Given the description of an element on the screen output the (x, y) to click on. 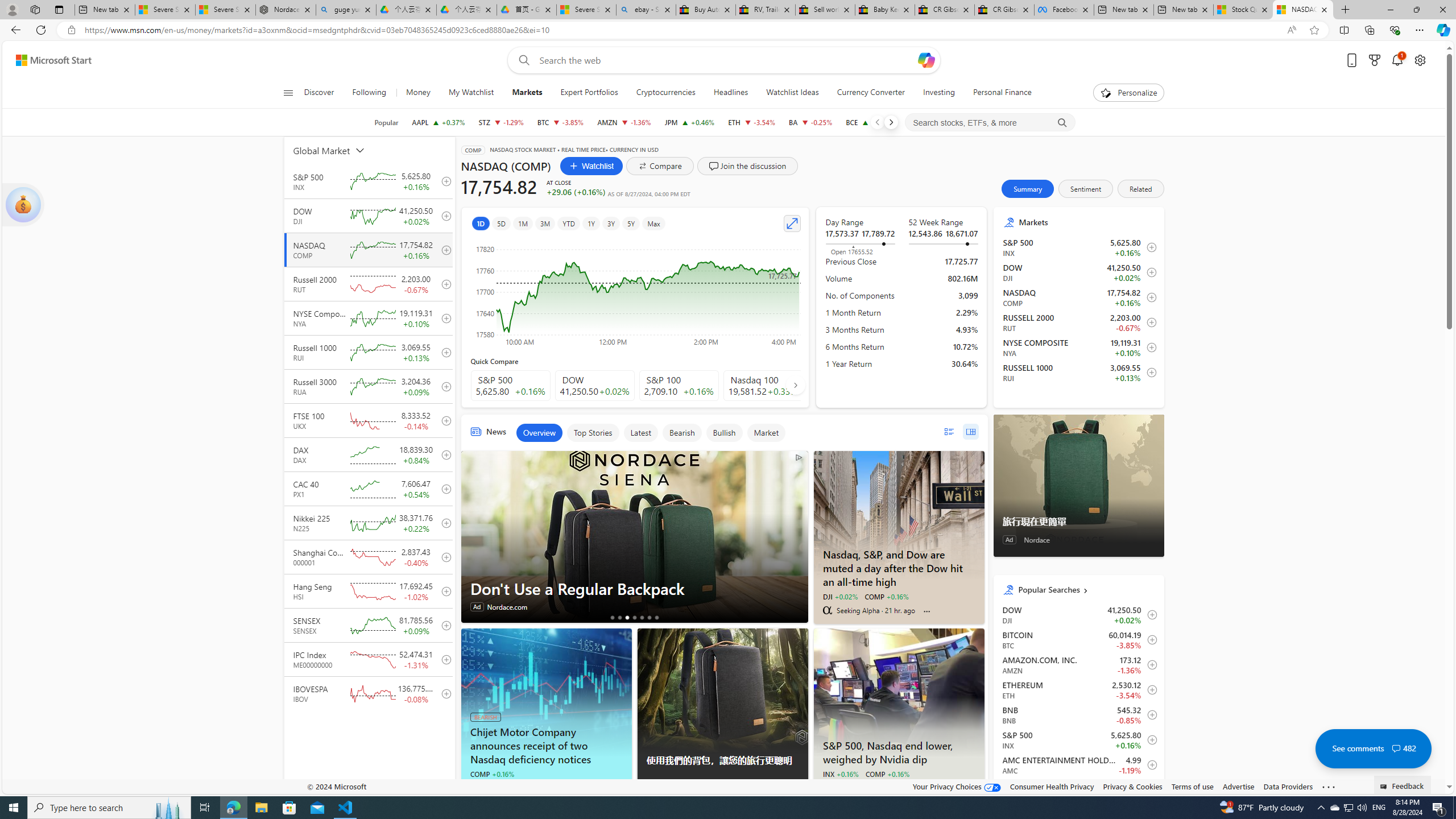
Notifications (1397, 60)
Following (368, 92)
Personalize (1128, 92)
Money (417, 92)
Money (418, 92)
Popular Searches (1085, 589)
Buy Auto Parts & Accessories | eBay (706, 9)
3M (545, 223)
Bearish (681, 432)
Data Providers (1288, 785)
Overview (538, 432)
